Given the description of an element on the screen output the (x, y) to click on. 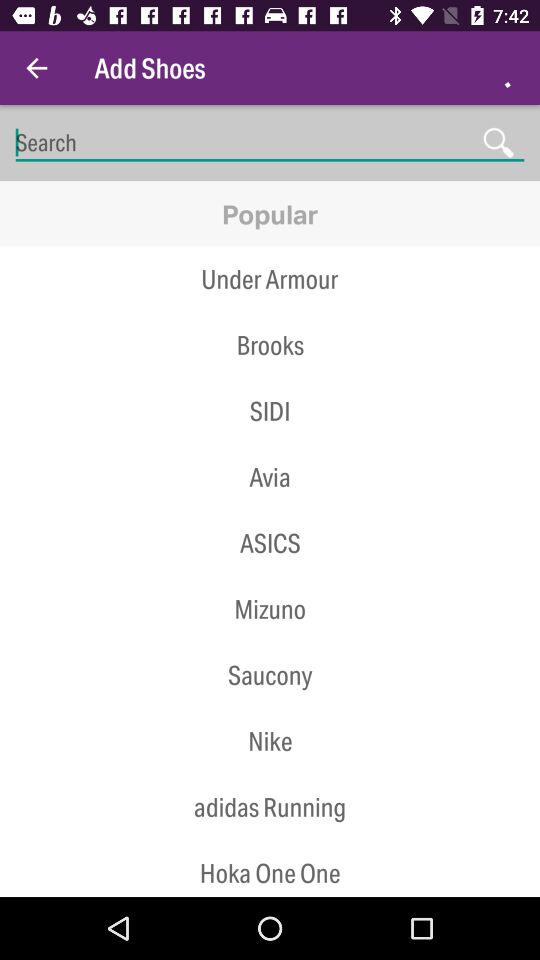
turn off the asics item (270, 543)
